Given the description of an element on the screen output the (x, y) to click on. 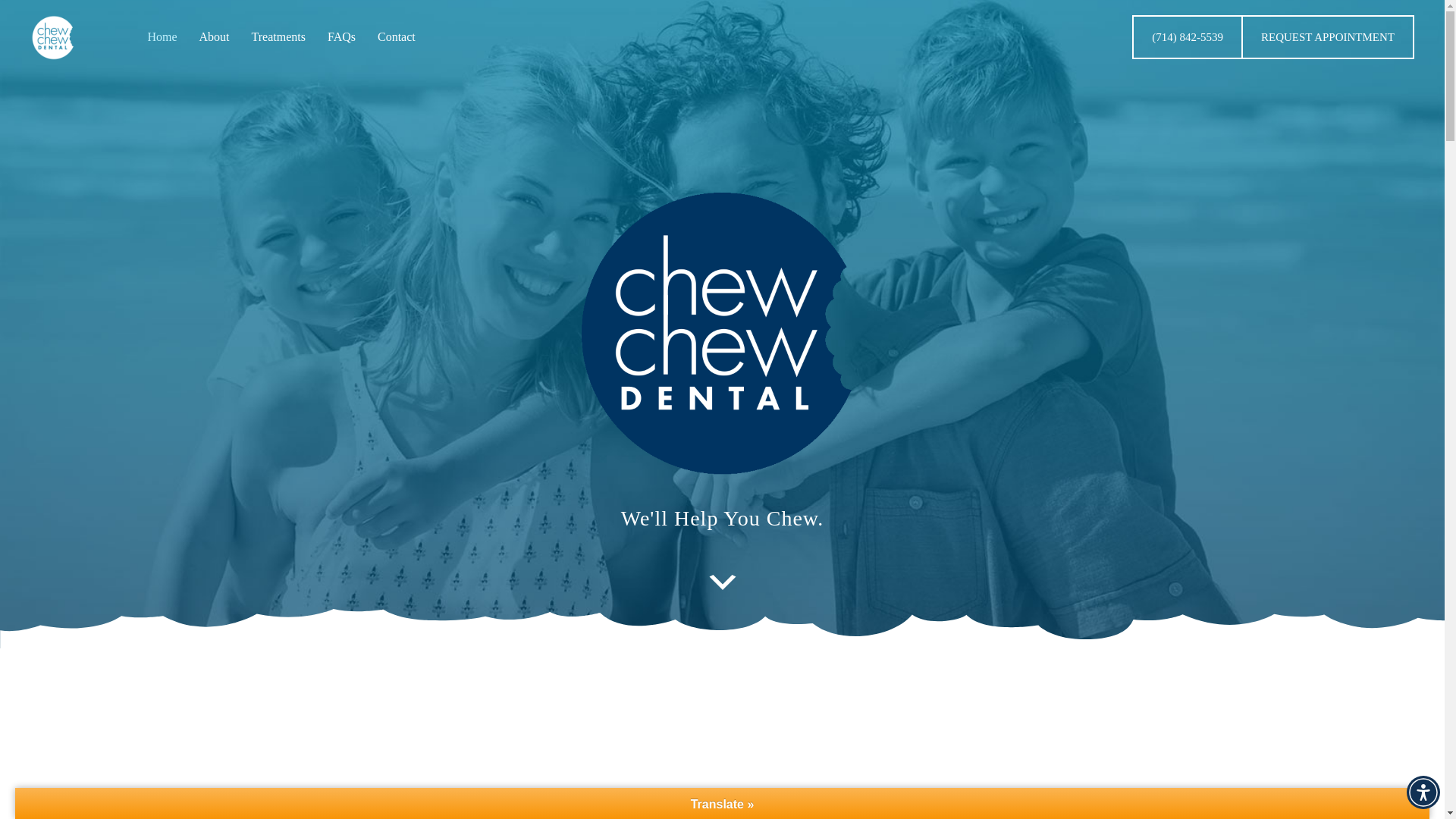
REQUEST APPOINTMENT (1328, 36)
Treatments (278, 37)
Contact (396, 37)
Home (161, 37)
white-logo (52, 37)
FAQs (341, 37)
About (214, 37)
chewchew-logoanimation (721, 333)
Accessibility Menu (1422, 792)
